Given the description of an element on the screen output the (x, y) to click on. 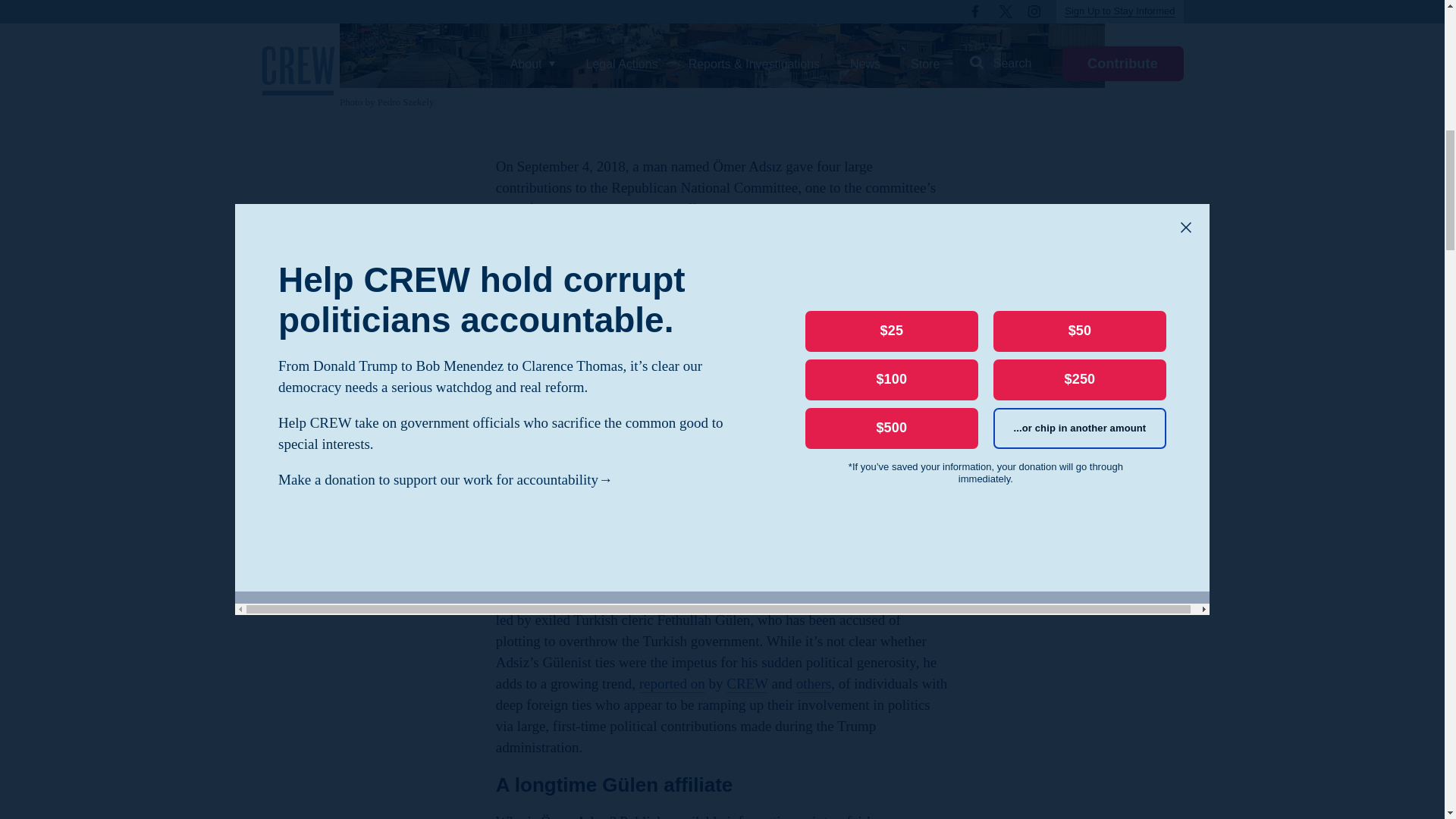
CREW (747, 683)
reported on (671, 683)
others (813, 683)
